Given the description of an element on the screen output the (x, y) to click on. 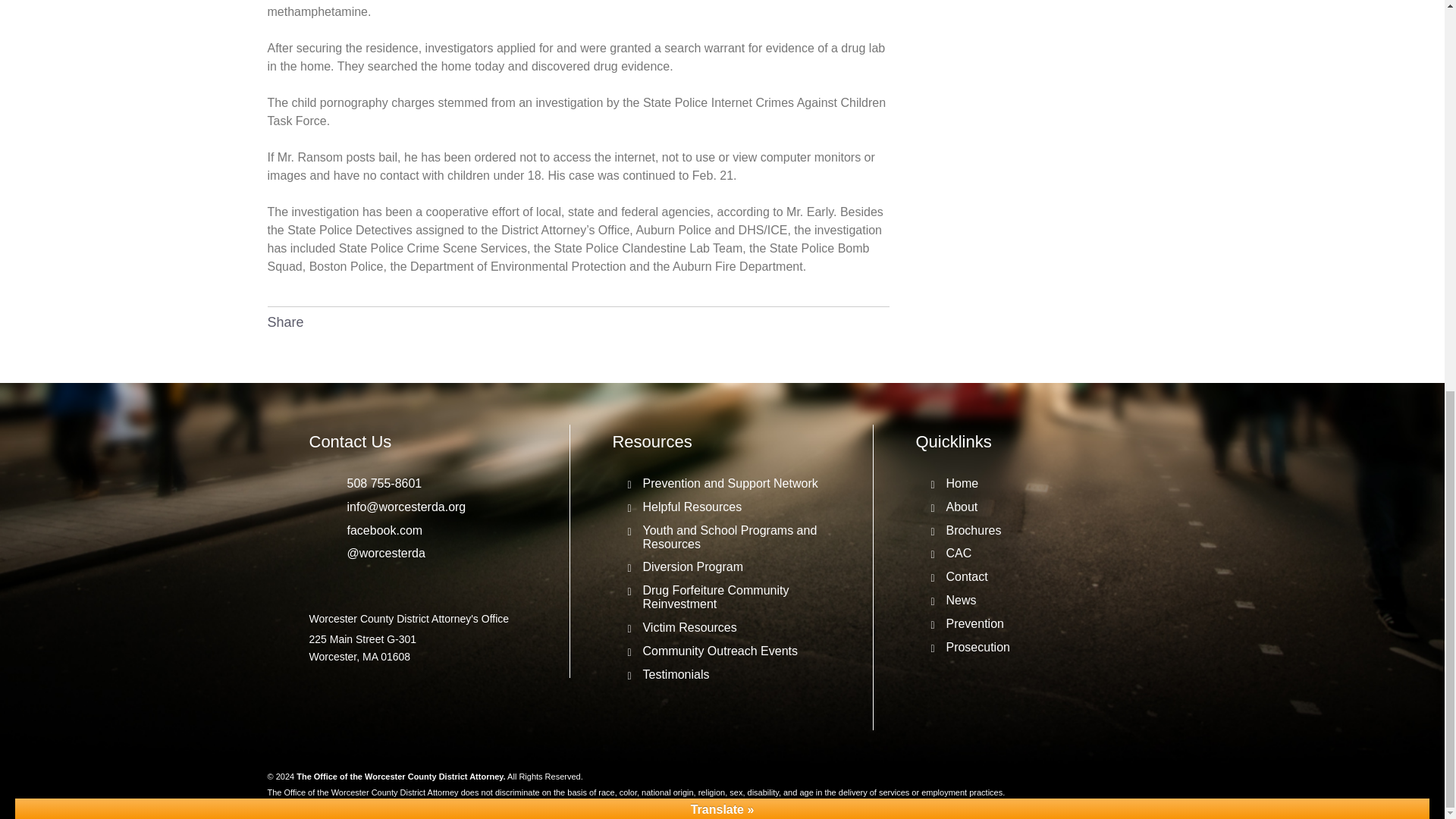
508 755-8601 (376, 483)
